Given the description of an element on the screen output the (x, y) to click on. 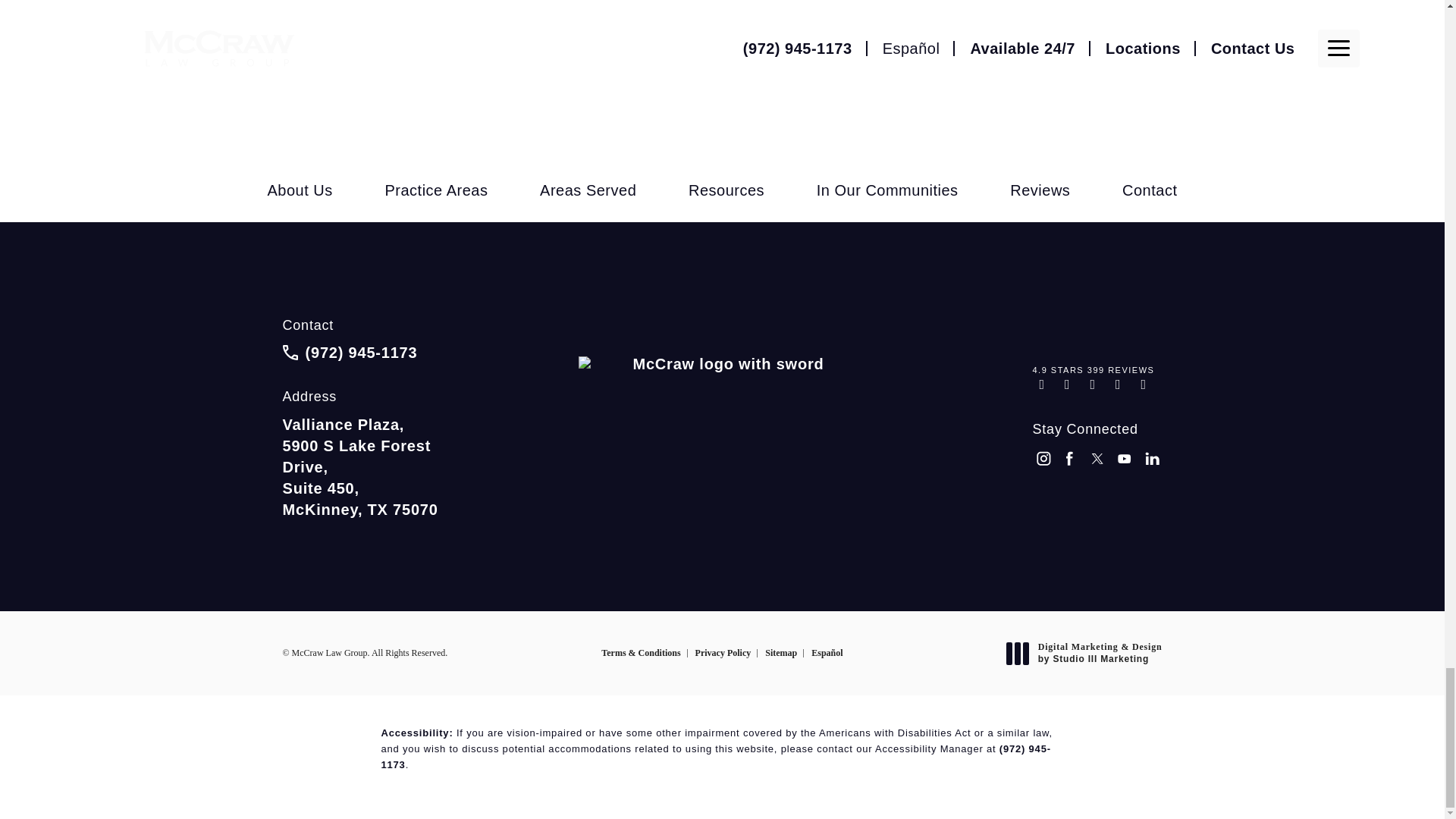
McCraw Law Group on Linkedin (1152, 460)
McCraw Law Group on Instagram (1042, 460)
McCraw Law Group on Facebook (1071, 460)
McCraw Law Group on Youtube (1125, 460)
McCraw Law Group on Twitter (1098, 460)
